Given the description of an element on the screen output the (x, y) to click on. 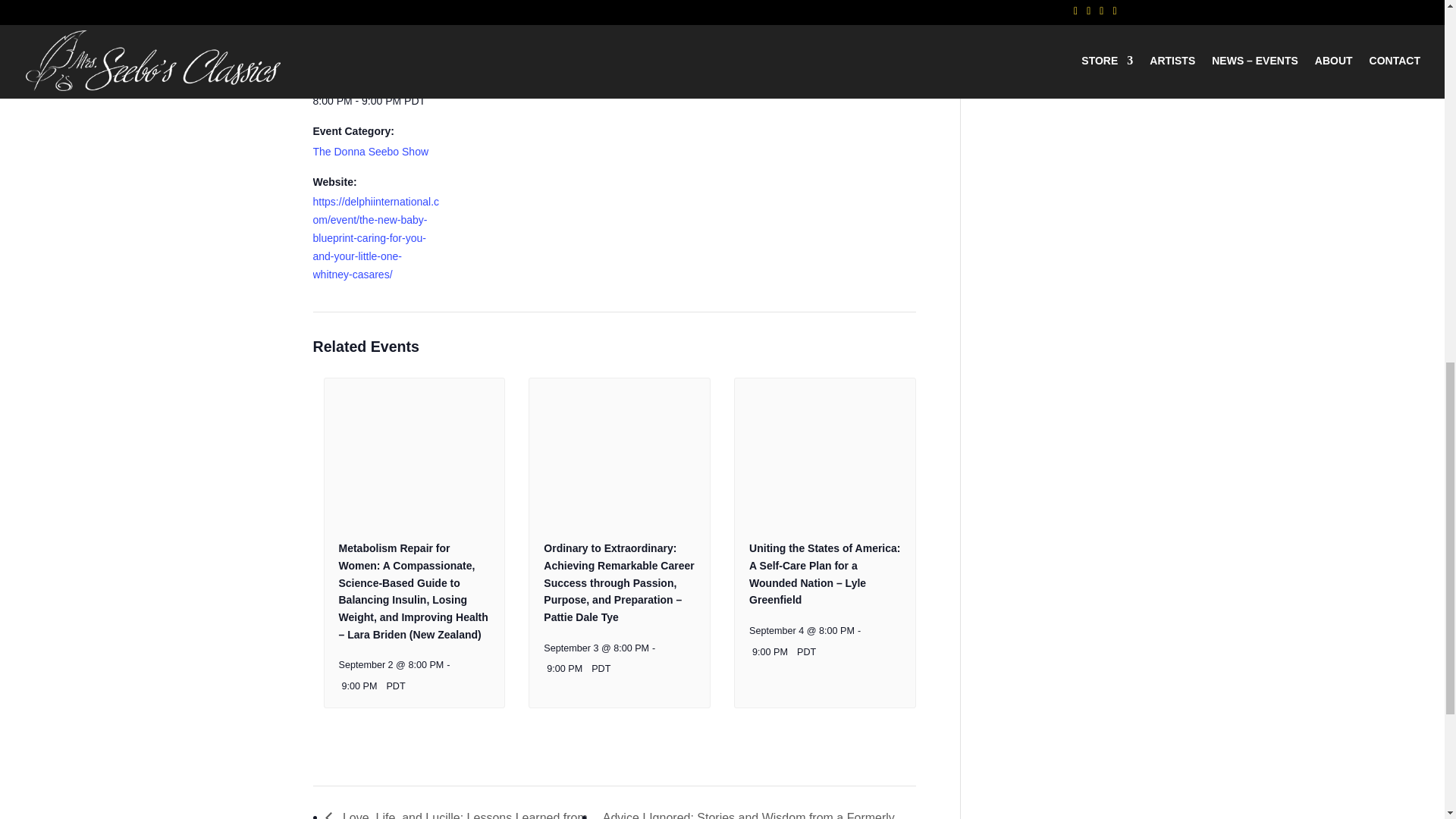
2020-04-06 (376, 101)
2020-04-06 (342, 50)
Washington (548, 72)
The Donna Seebo Show (370, 151)
The Donna Seebo Show (515, 30)
